Given the description of an element on the screen output the (x, y) to click on. 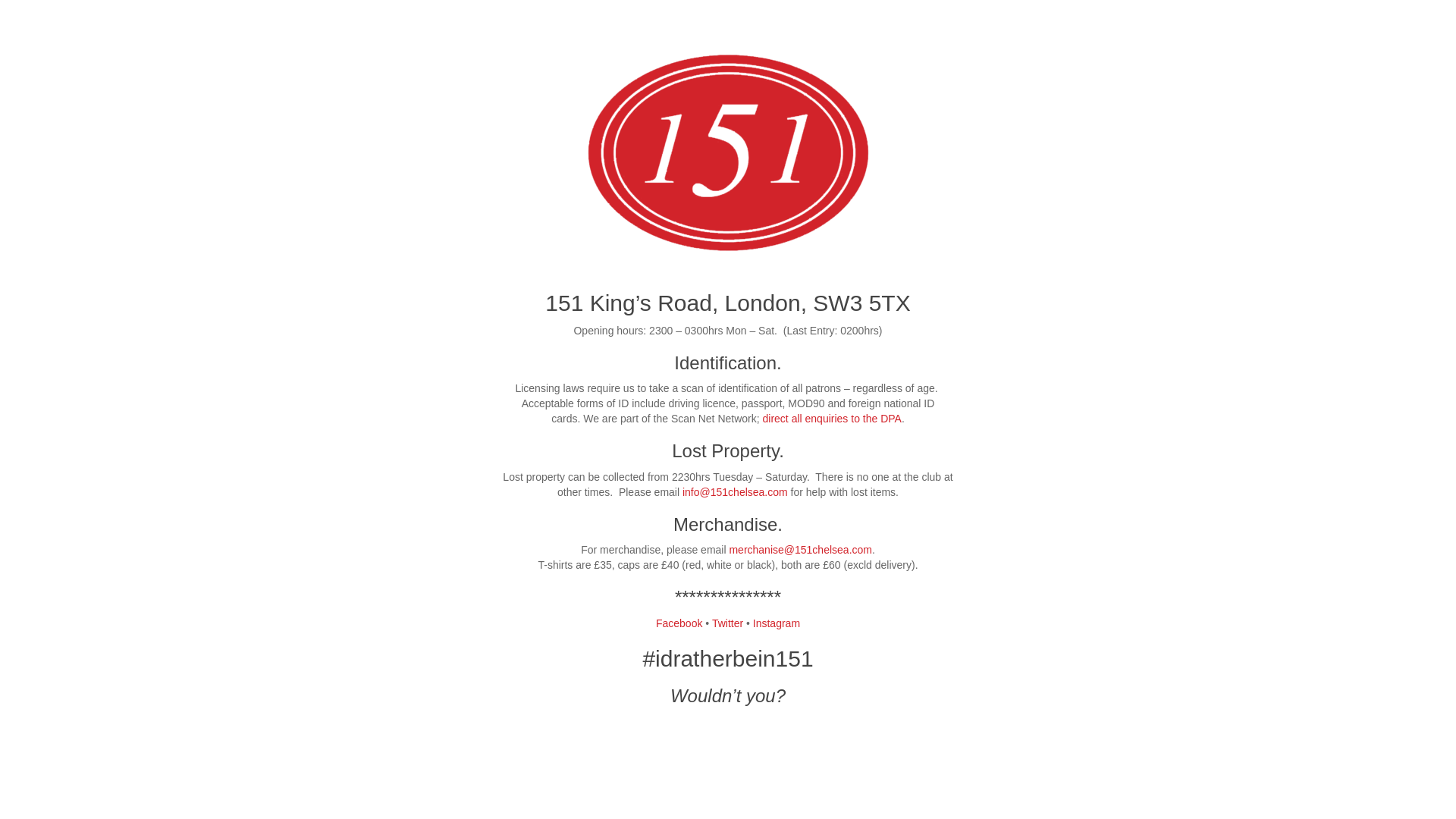
Twitter Element type: text (727, 623)
Instagram Element type: text (776, 623)
merchanise@151chelsea.com Element type: text (800, 549)
Facebook Element type: text (678, 623)
info@151chelsea.com Element type: text (734, 492)
direct all enquiries to the DPA Element type: text (831, 418)
